Given the description of an element on the screen output the (x, y) to click on. 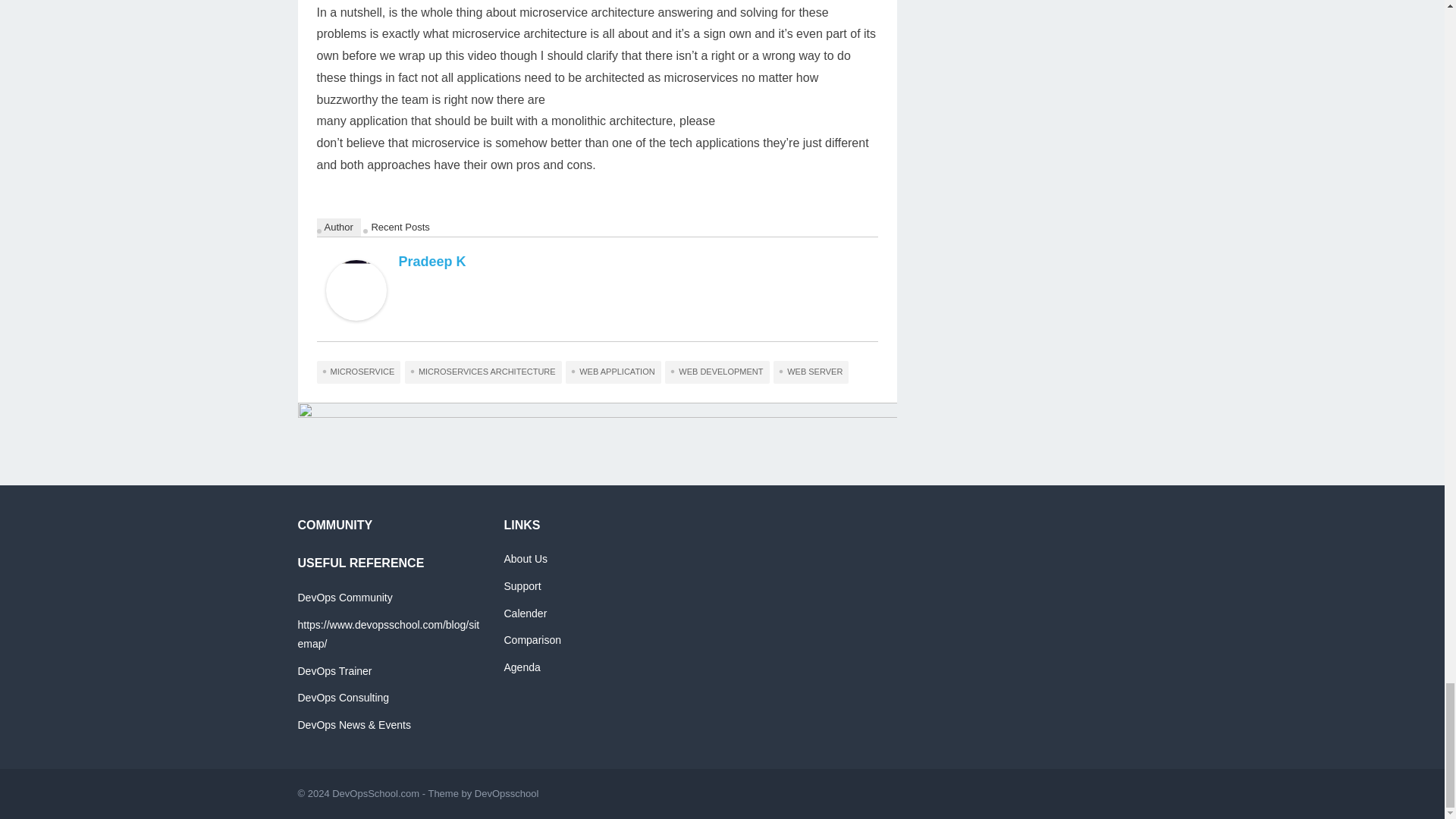
WEB APPLICATION (613, 372)
Author (339, 227)
Recent Posts (399, 227)
WEB DEVELOPMENT (716, 372)
MICROSERVICE (359, 372)
Pradeep K (431, 261)
WEB SERVER (810, 372)
Pradeep K (356, 316)
MICROSERVICES ARCHITECTURE (483, 372)
